Given the description of an element on the screen output the (x, y) to click on. 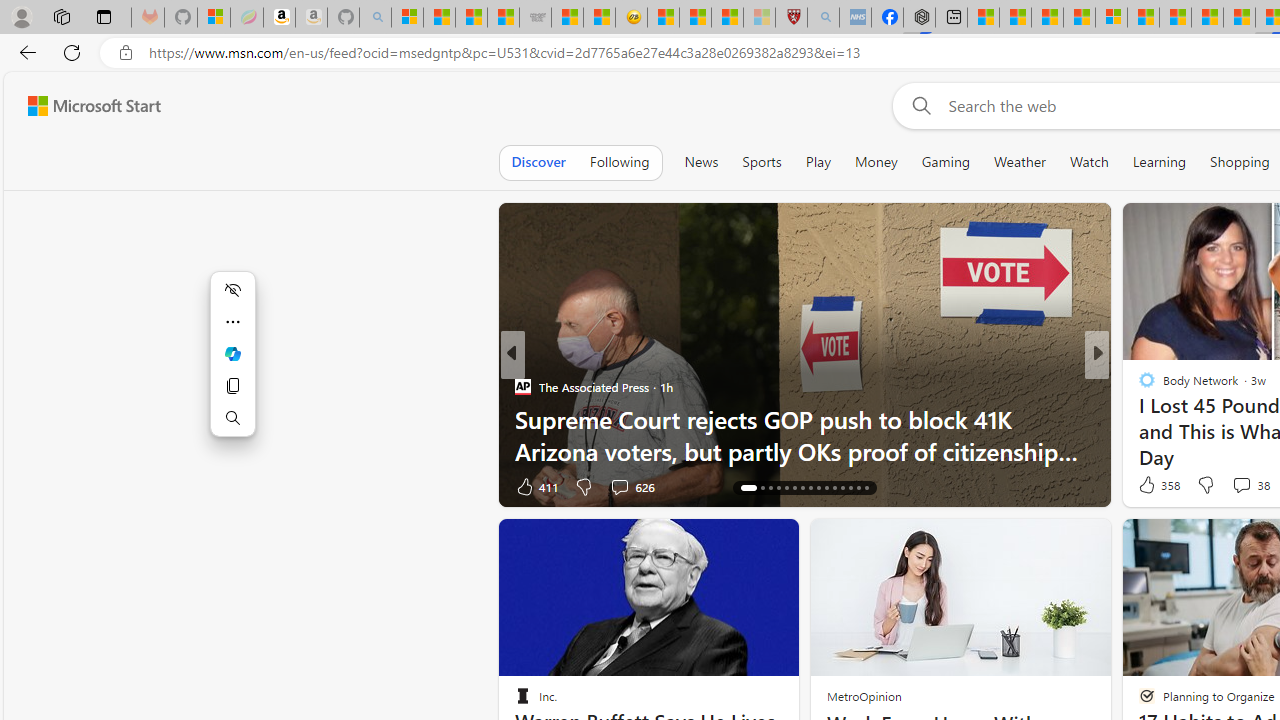
AutomationID: tab-19 (778, 487)
ABC News (1138, 386)
Ask Copilot (232, 353)
View comments 66 Comment (1234, 485)
View comments 104 Comment (1234, 485)
GOBankingRates (1138, 386)
View comments 4 Comment (1229, 485)
400 Like (1151, 486)
2 Like (1145, 486)
42 Like (1149, 486)
